Given the description of an element on the screen output the (x, y) to click on. 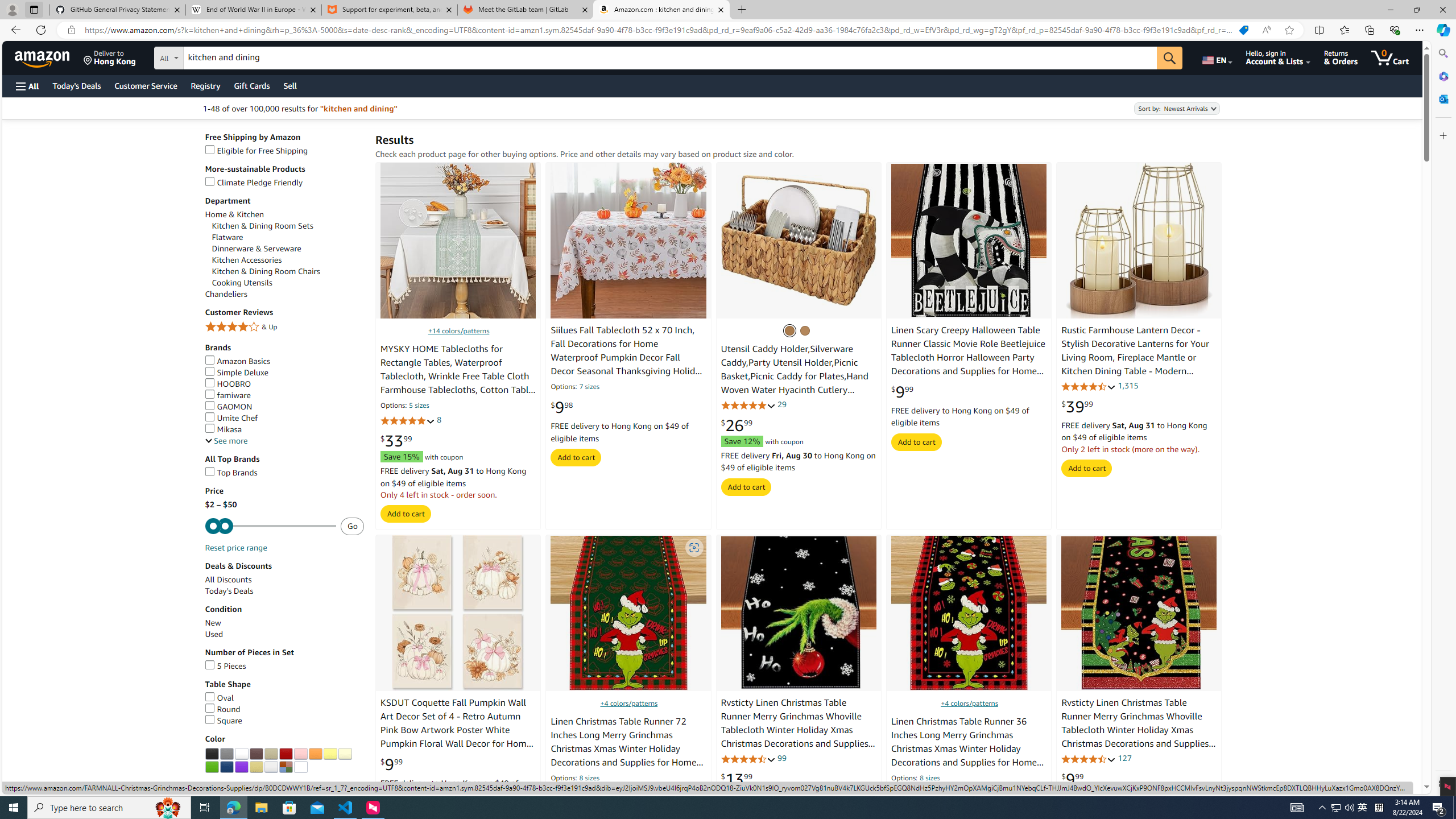
Oval (219, 697)
Amazon (43, 57)
Meet the GitLab team | GitLab (525, 9)
Home & Kitchen (284, 214)
Deliver to Hong Kong (109, 57)
New (213, 622)
Kitchen & Dining Room Chairs (265, 271)
Climate Pledge Friendly (284, 182)
HOOBRO (228, 383)
AutomationID: p_n_feature_twenty_browse-bin/3254106011 (330, 753)
Home & Kitchen (234, 214)
4.8 out of 5 stars (748, 405)
